Given the description of an element on the screen output the (x, y) to click on. 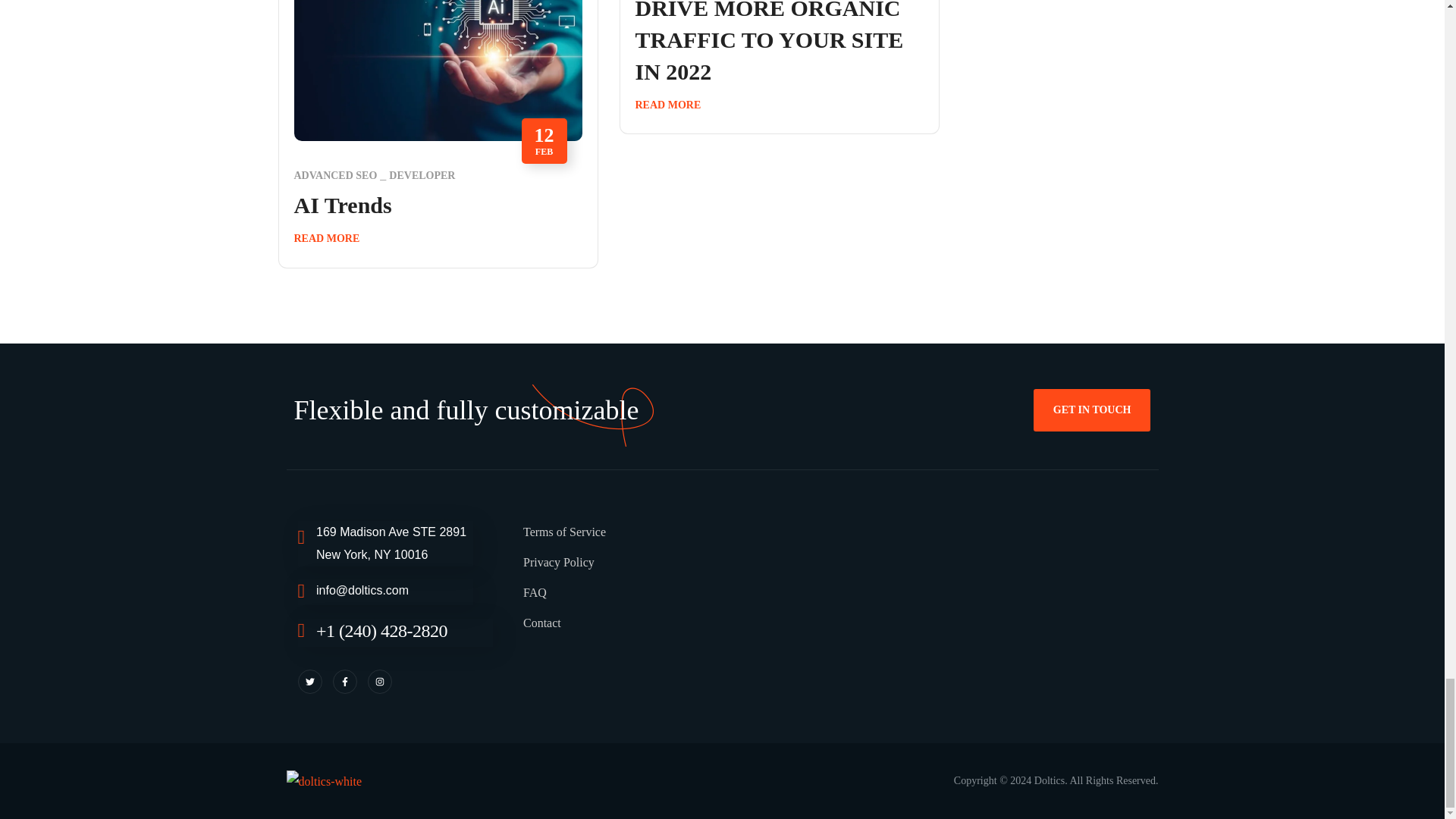
169 Madison Ave STE 2891 (940, 608)
Facebook (343, 681)
Instagram (378, 681)
Twitter (309, 681)
doltics-white (324, 781)
